Given the description of an element on the screen output the (x, y) to click on. 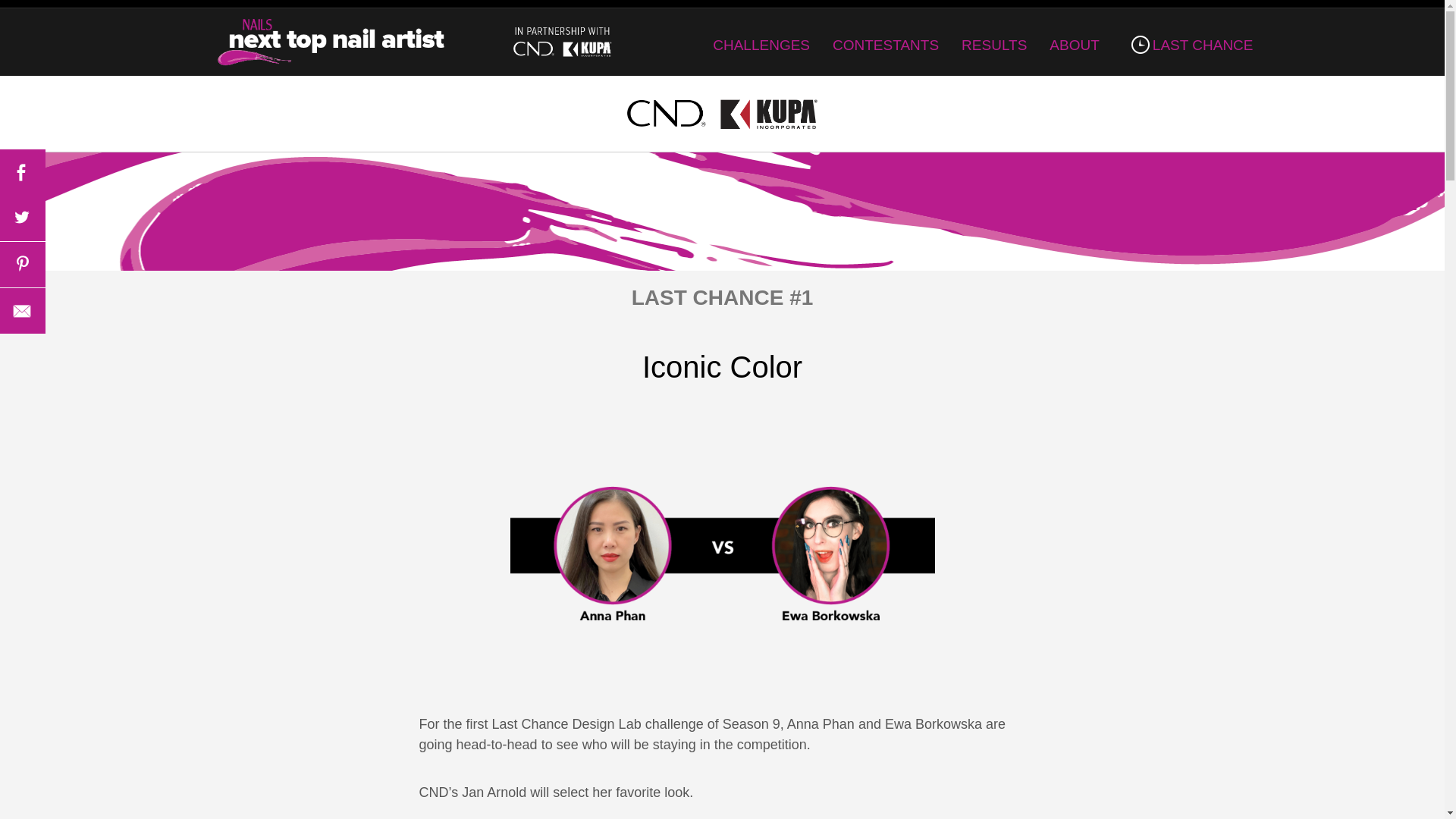
ABOUT (1074, 44)
CONTESTANTS (885, 44)
RESULTS (993, 44)
LAST CHANCE (1187, 44)
CHALLENGES (761, 44)
